Given the description of an element on the screen output the (x, y) to click on. 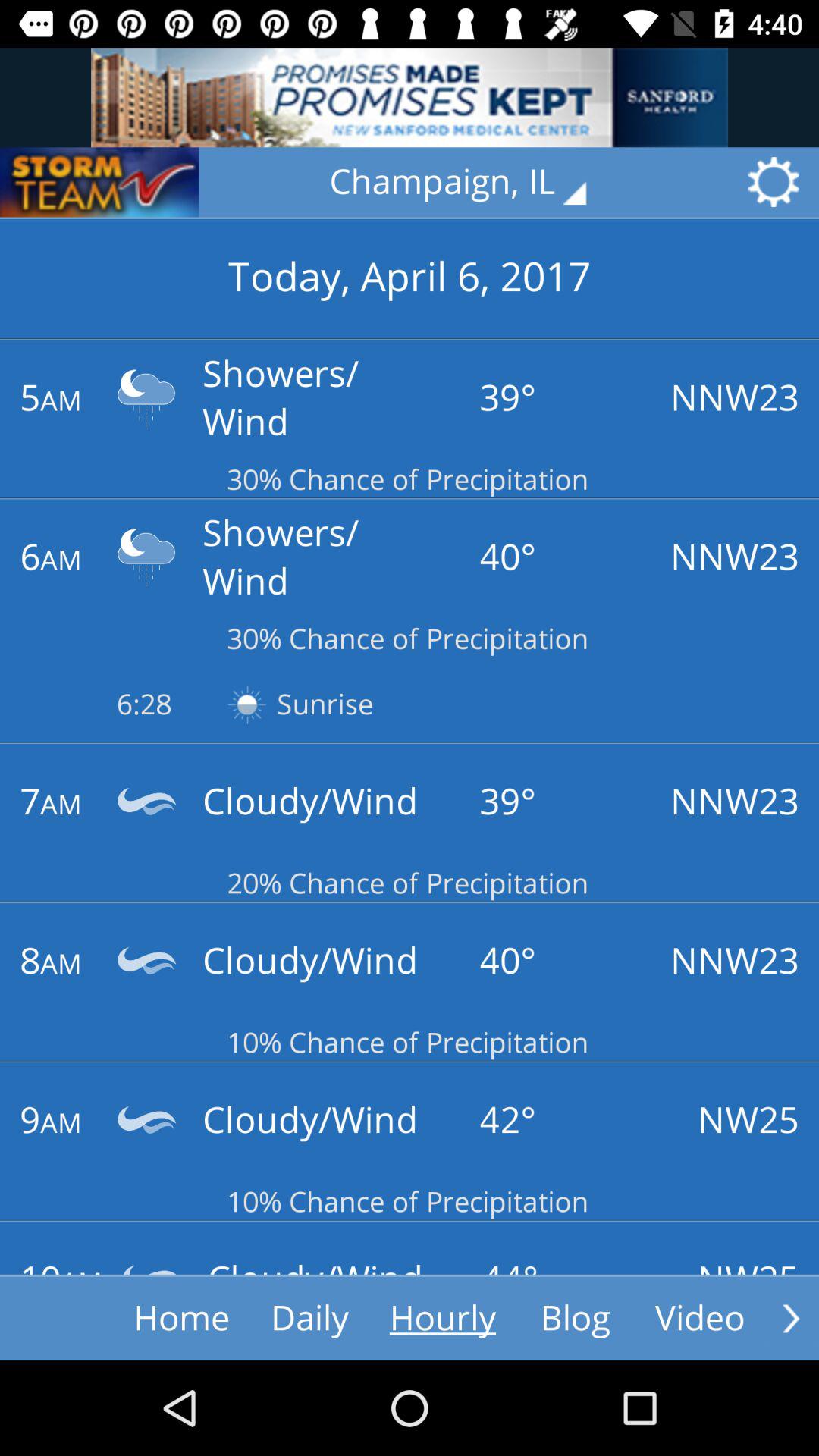
go to storm team (99, 182)
